Given the description of an element on the screen output the (x, y) to click on. 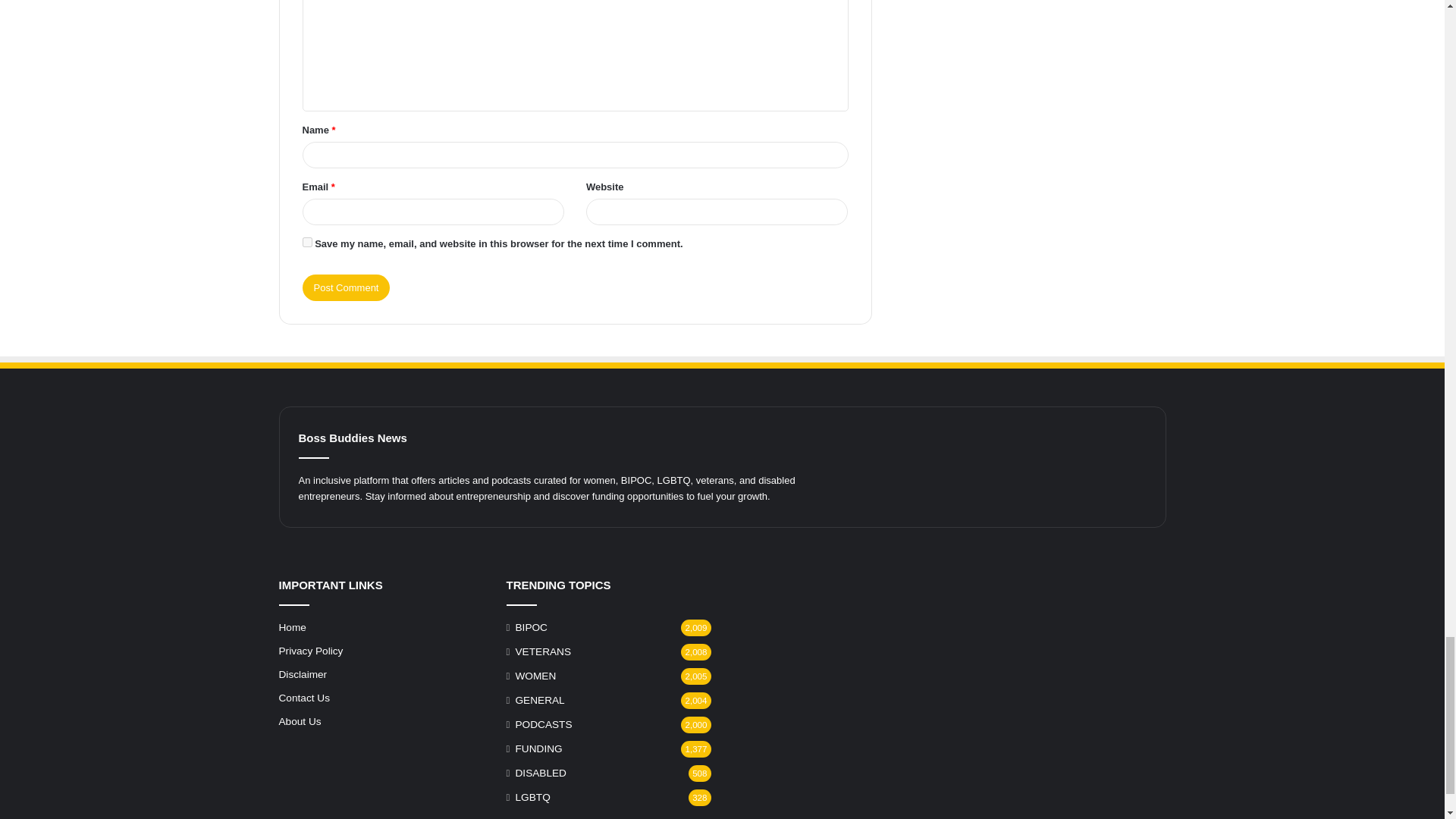
Post Comment (345, 287)
yes (306, 242)
